Given the description of an element on the screen output the (x, y) to click on. 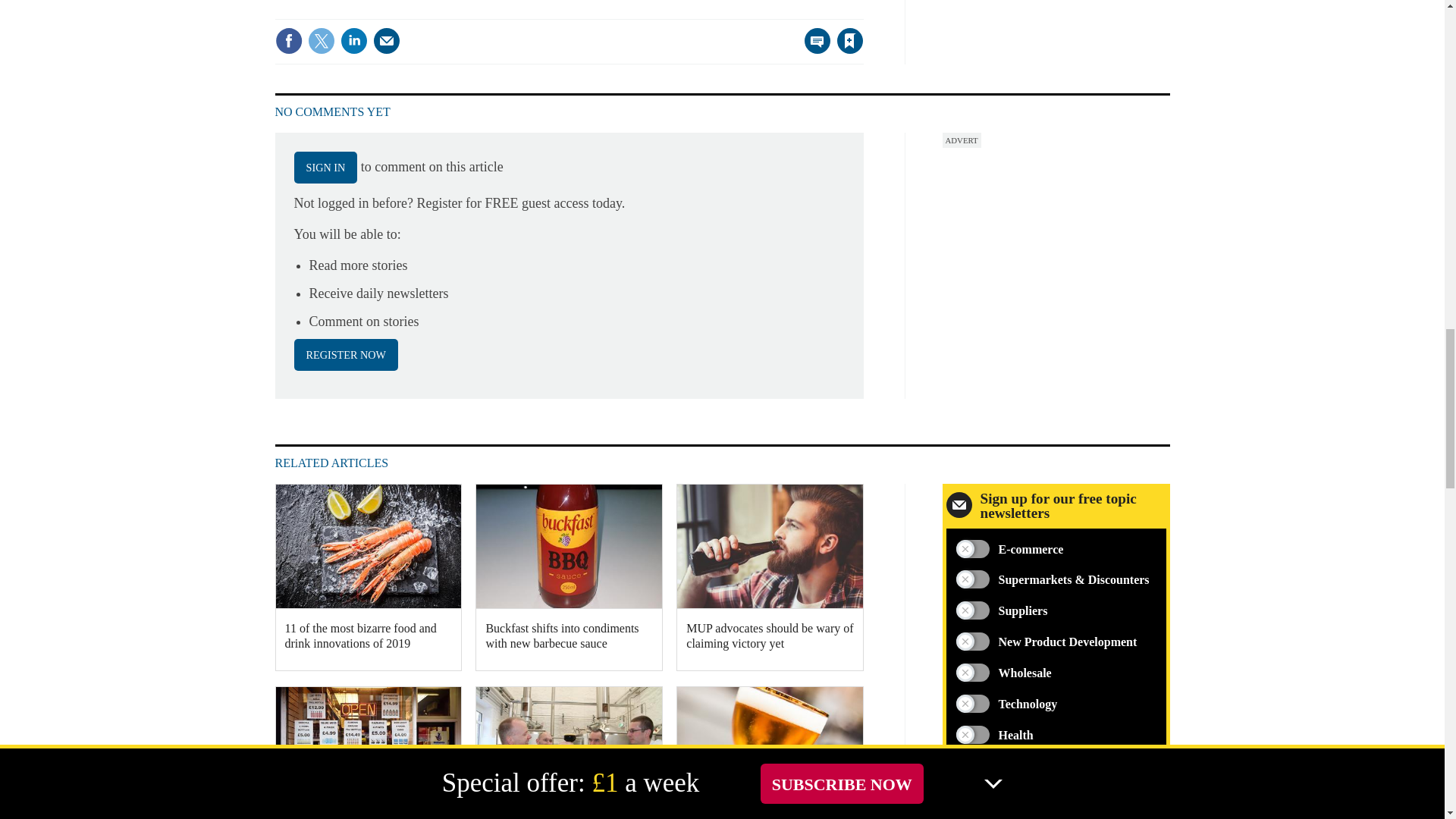
Share this on Facebook (288, 40)
No comments (812, 49)
Share this on Linked in (352, 40)
Email this article (386, 40)
Share this on Twitter (320, 40)
